Given the description of an element on the screen output the (x, y) to click on. 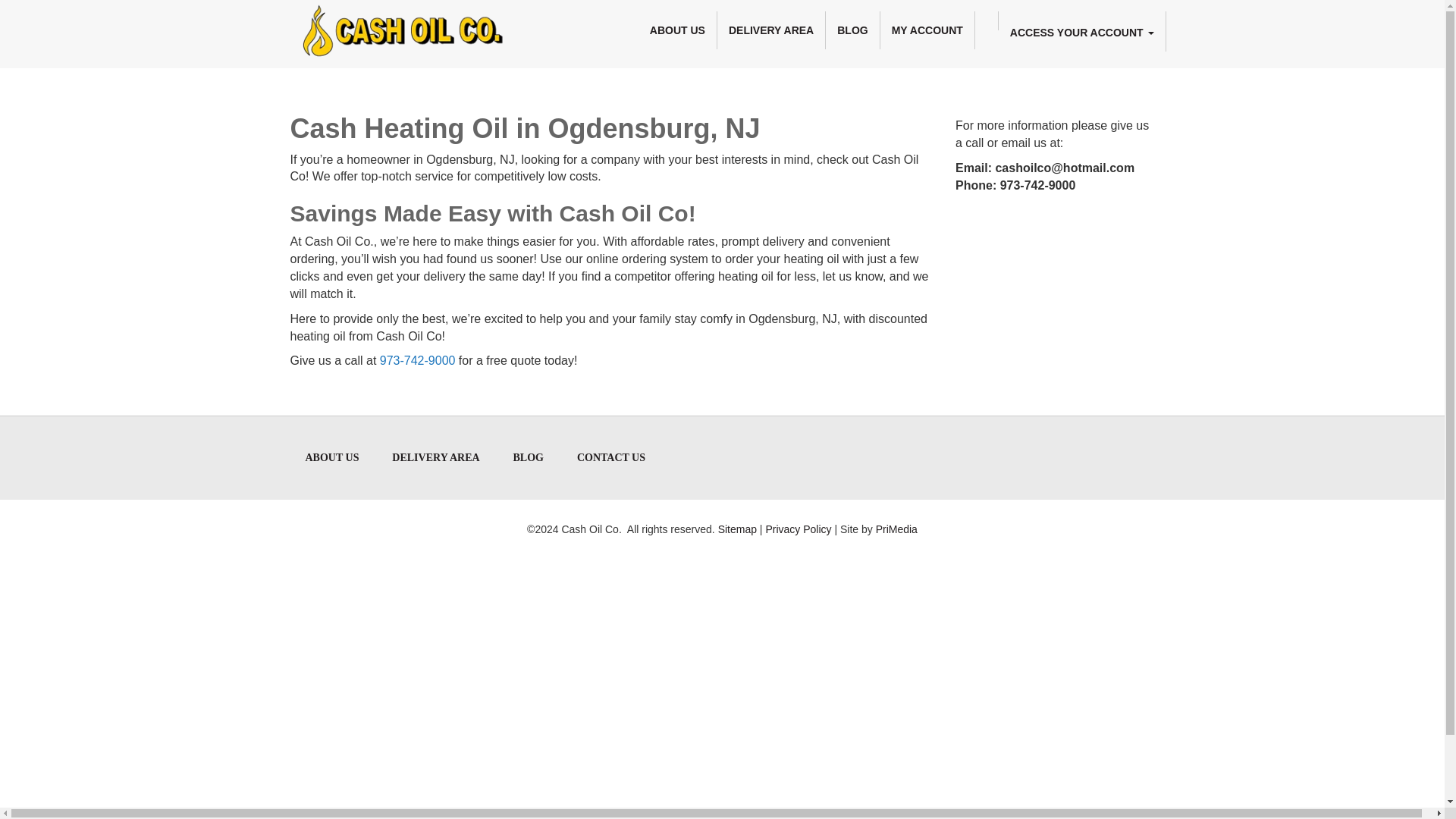
ABOUT US (331, 457)
CashOilCo (404, 18)
BLOG (852, 30)
DELIVERY AREA (771, 30)
Privacy Policy (798, 529)
973-742-9000 (417, 359)
CONTACT US (611, 457)
DELIVERY AREA (436, 457)
ACCESS YOUR ACCOUNT (1082, 31)
ABOUT US (677, 30)
